Given the description of an element on the screen output the (x, y) to click on. 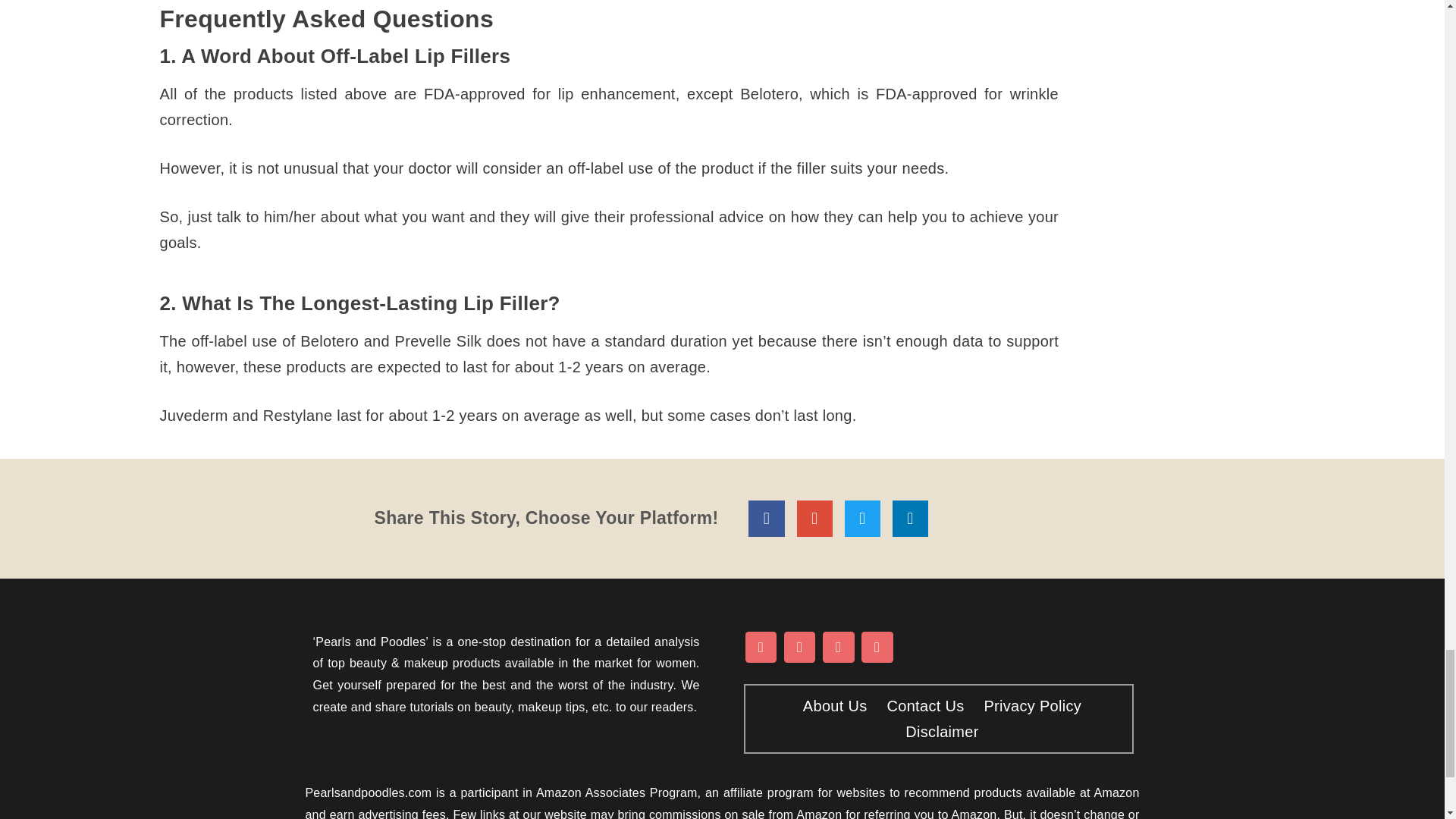
Contact Us (921, 705)
Privacy Policy (1028, 705)
Disclaimer (938, 731)
About Us (830, 705)
